Given the description of an element on the screen output the (x, y) to click on. 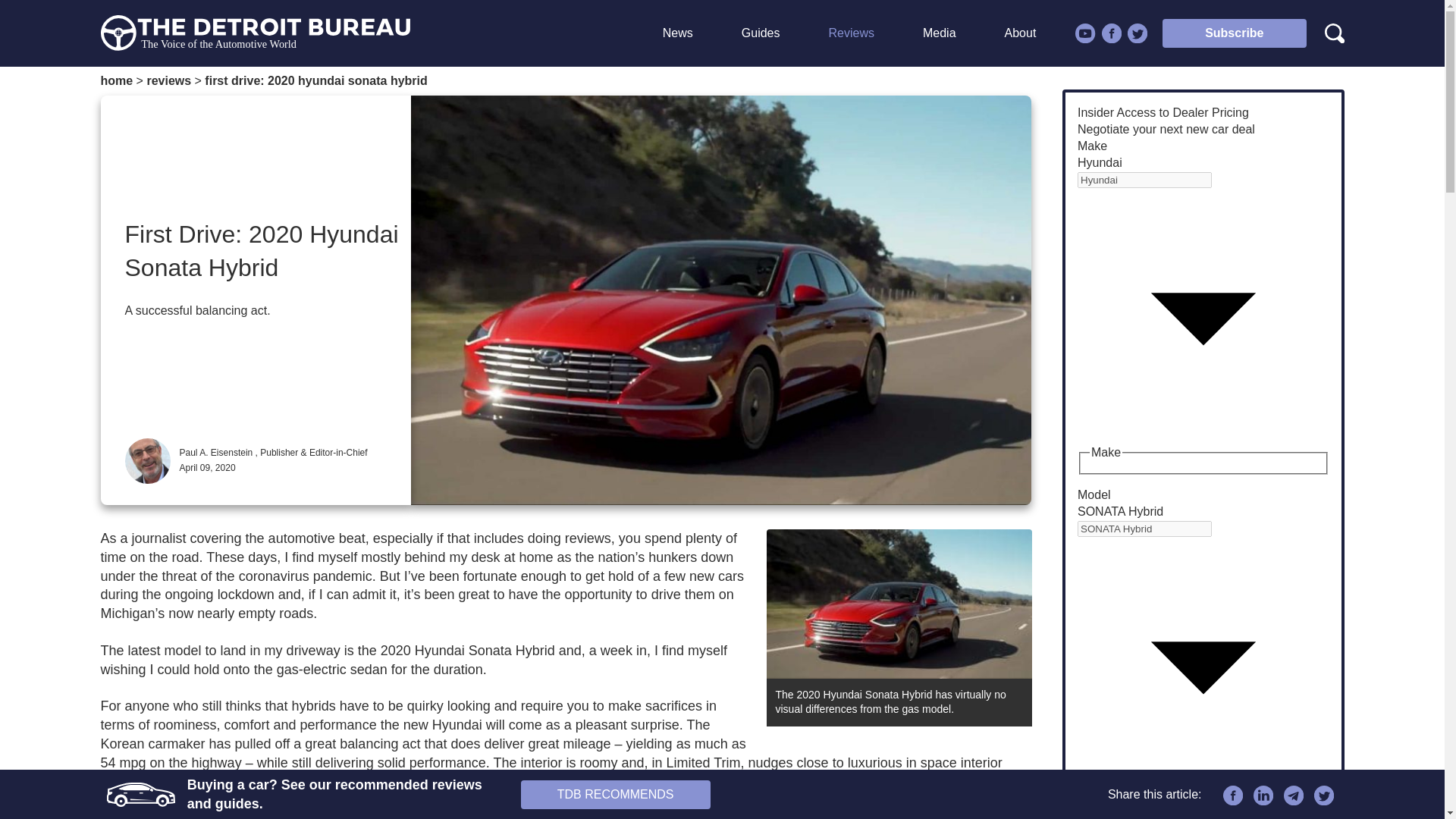
About (1020, 33)
News (677, 33)
Subscribe (1233, 32)
Media (939, 33)
Guides (760, 33)
Take Action Now! (620, 15)
SUBSCRIBE (1178, 166)
Reviews (850, 33)
